Given the description of an element on the screen output the (x, y) to click on. 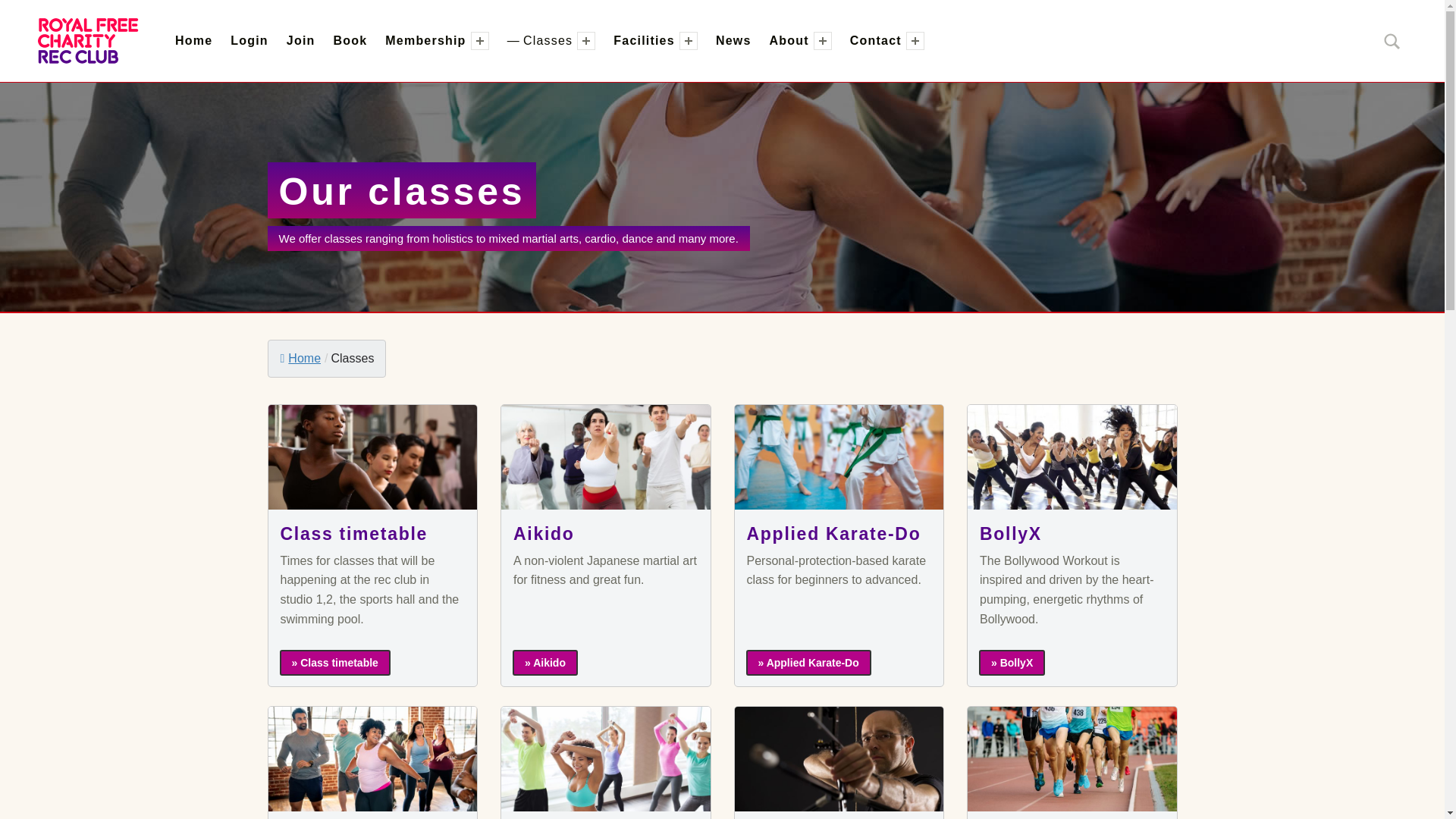
royal free charity recreation club (264, 41)
Class timetable (334, 662)
Bollyx (1072, 456)
Ballet 2 (372, 456)
Akido (605, 456)
Karate-Do (838, 456)
archery (838, 758)
BollyX (1011, 662)
Rec Club classes (372, 758)
Applied Karate-Do (807, 662)
